Given the description of an element on the screen output the (x, y) to click on. 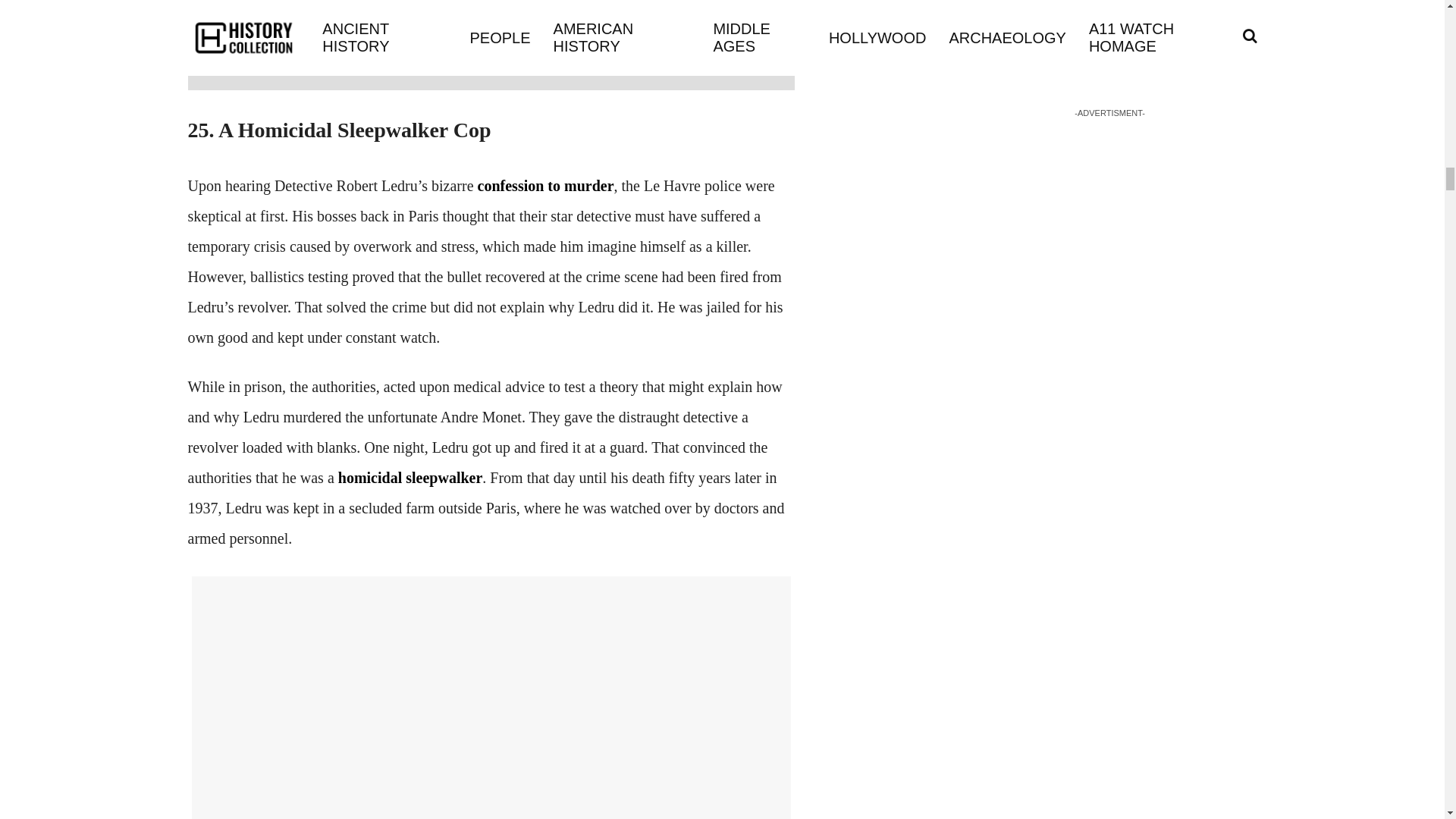
homicidal sleepwalker (410, 477)
confession to murder (545, 185)
